Given the description of an element on the screen output the (x, y) to click on. 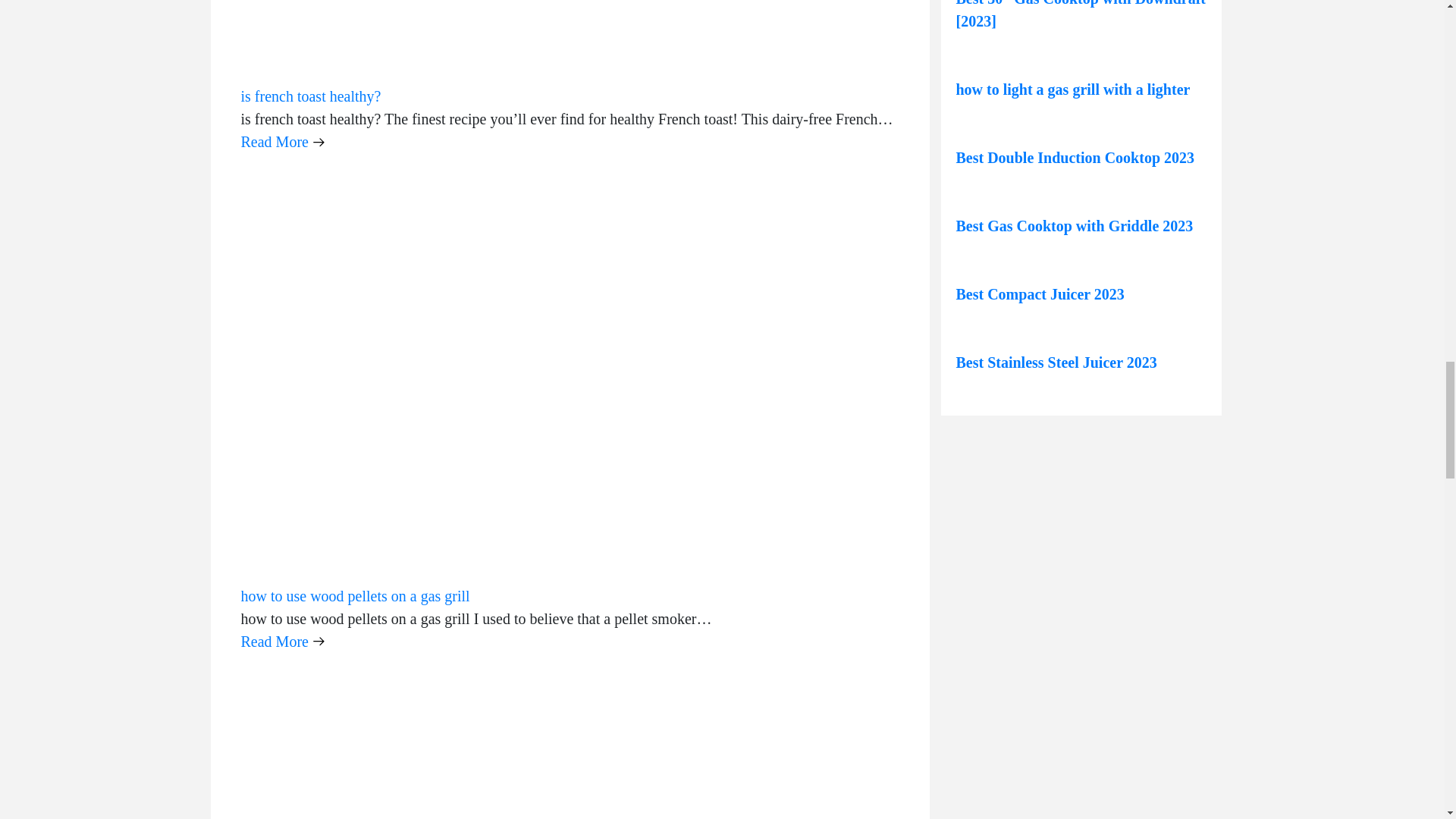
how to use wood pellets on a gas grill (355, 596)
Read More (282, 141)
is french toast healthy? (311, 95)
Read More (282, 640)
